Given the description of an element on the screen output the (x, y) to click on. 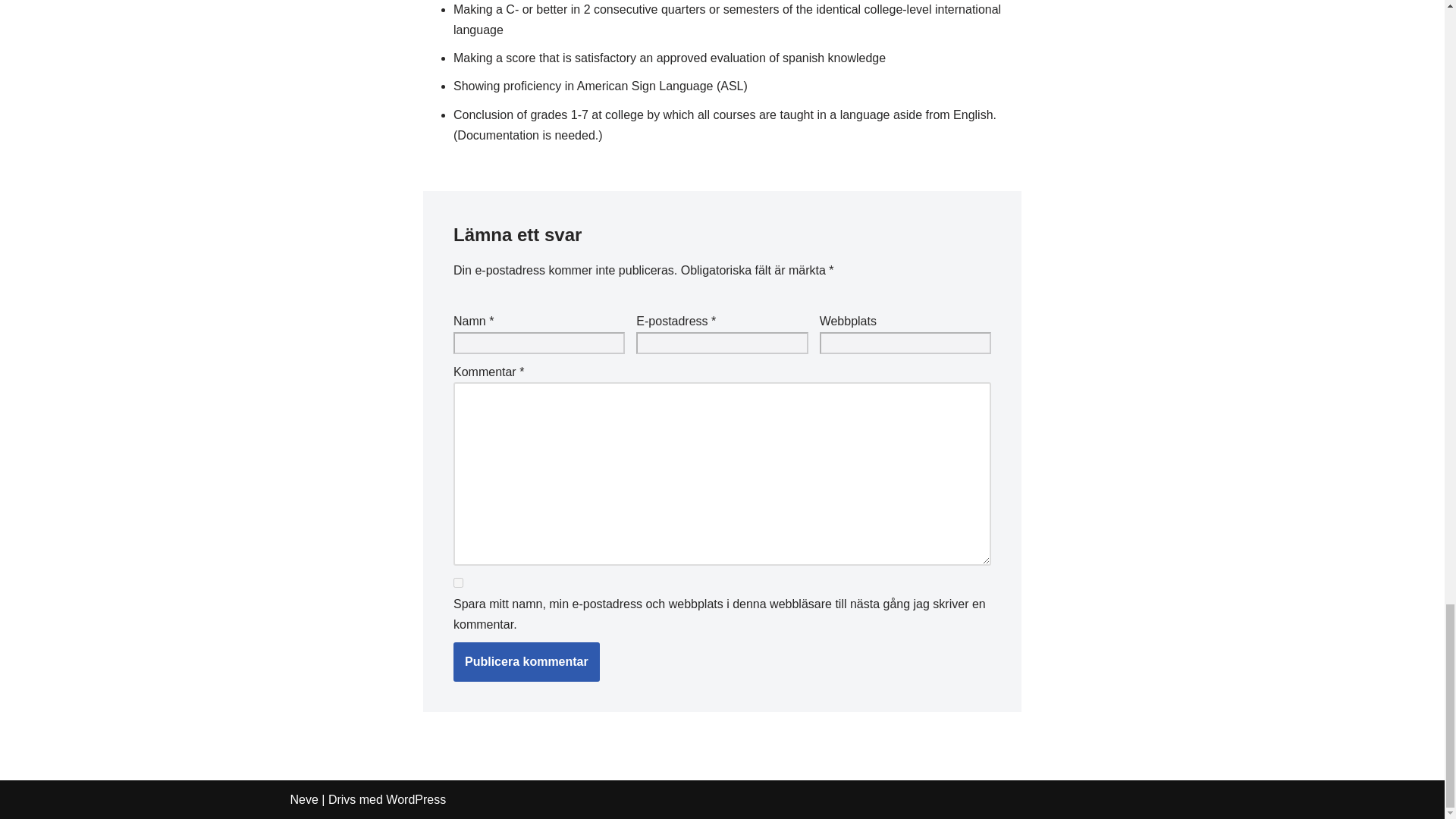
Publicera kommentar (525, 661)
yes (457, 583)
WordPress (415, 799)
Neve (303, 799)
Publicera kommentar (525, 661)
